Given the description of an element on the screen output the (x, y) to click on. 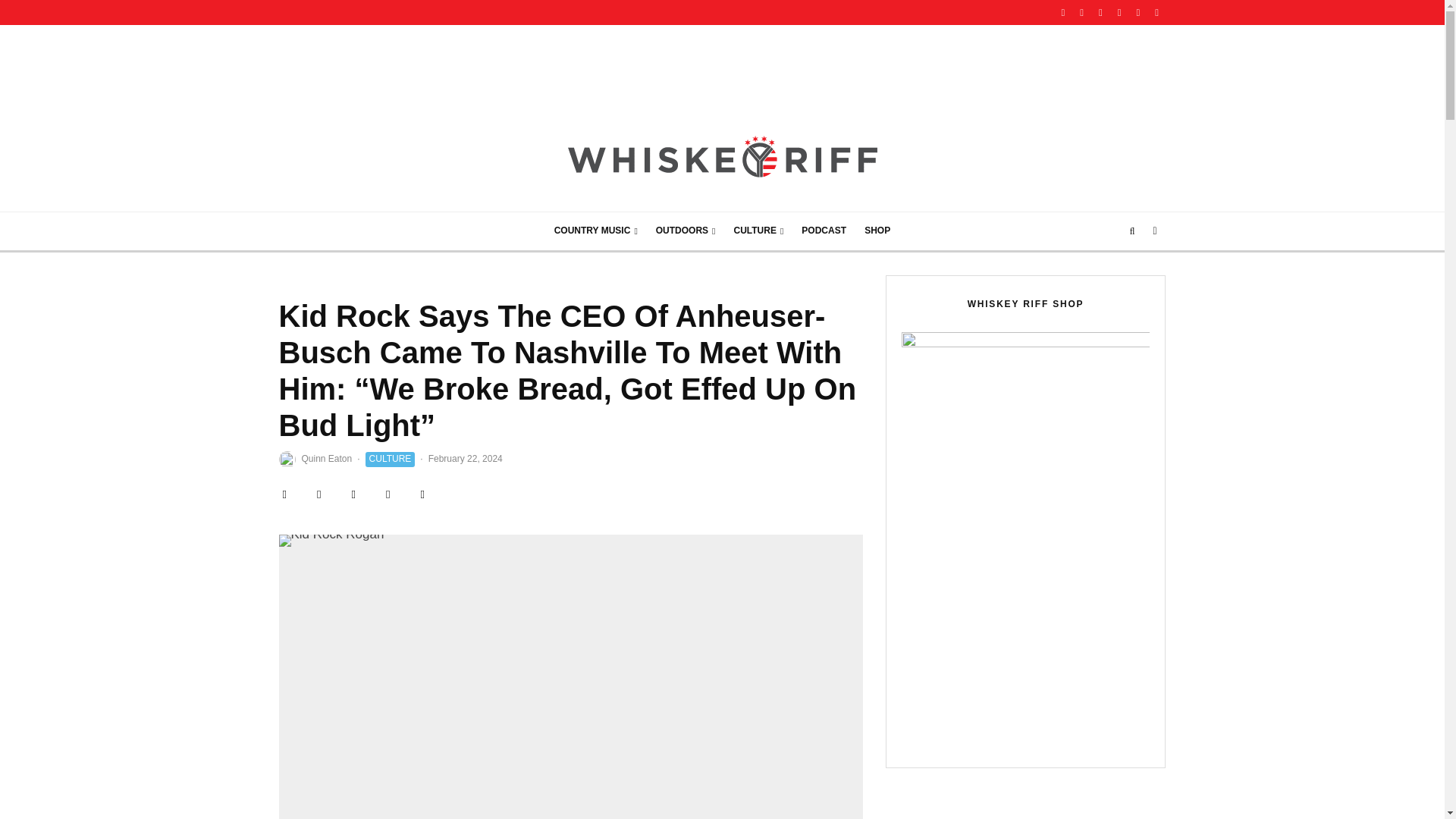
CULTURE (759, 231)
OUTDOORS (685, 231)
COUNTRY MUSIC (595, 231)
